Given the description of an element on the screen output the (x, y) to click on. 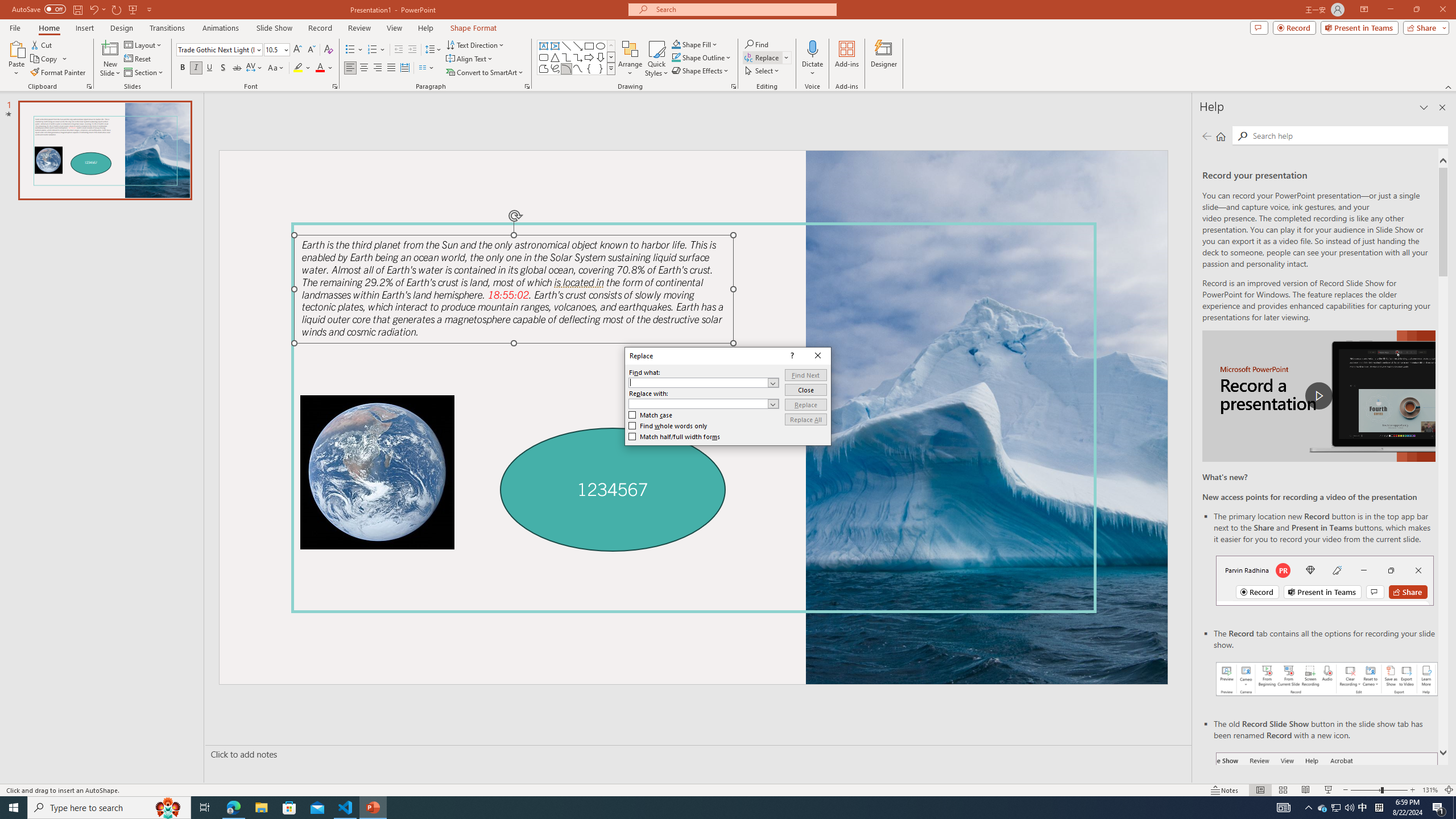
Record your presentations screenshot one (1326, 678)
